Given the description of an element on the screen output the (x, y) to click on. 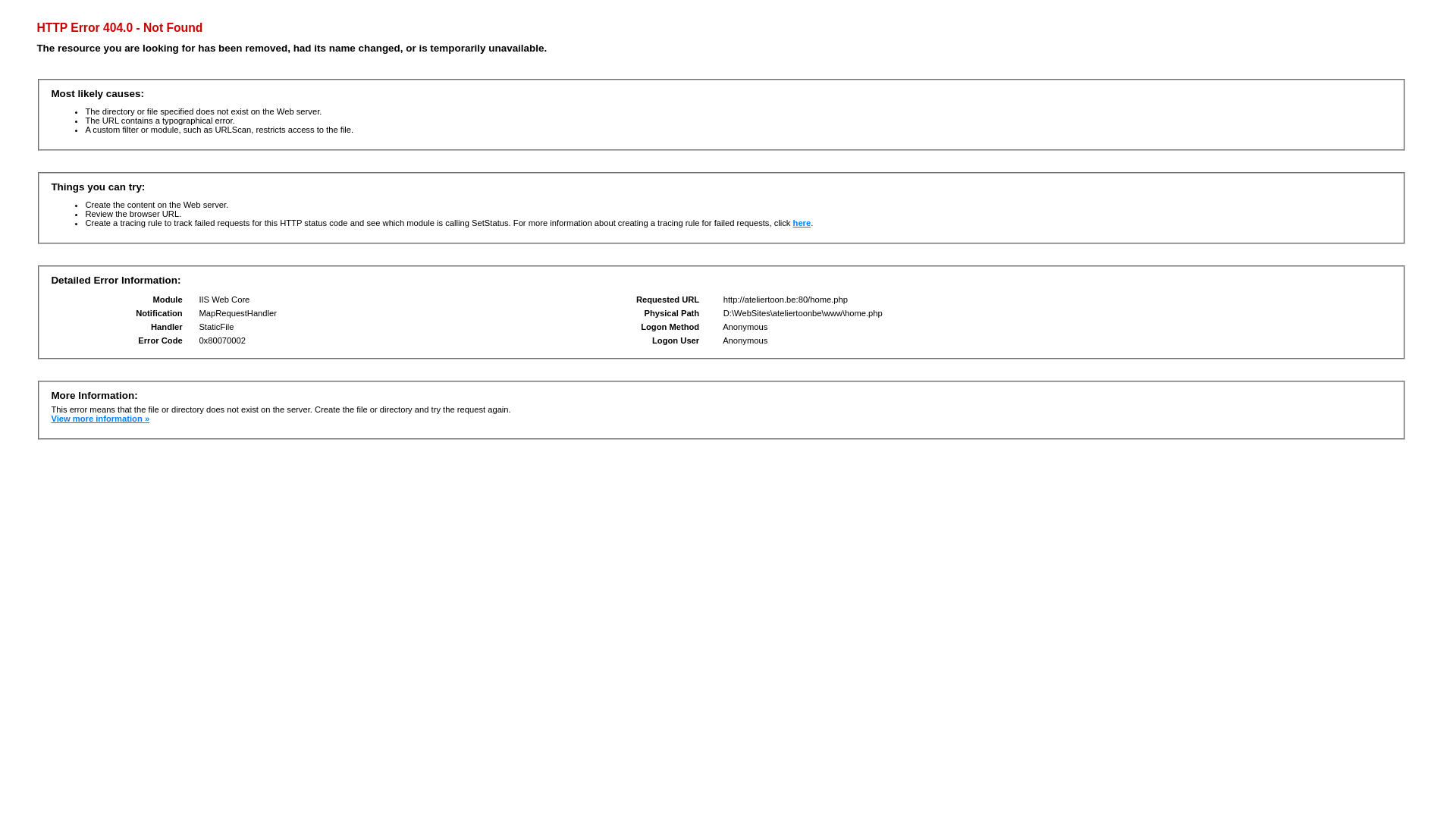
here Element type: text (802, 222)
